Given the description of an element on the screen output the (x, y) to click on. 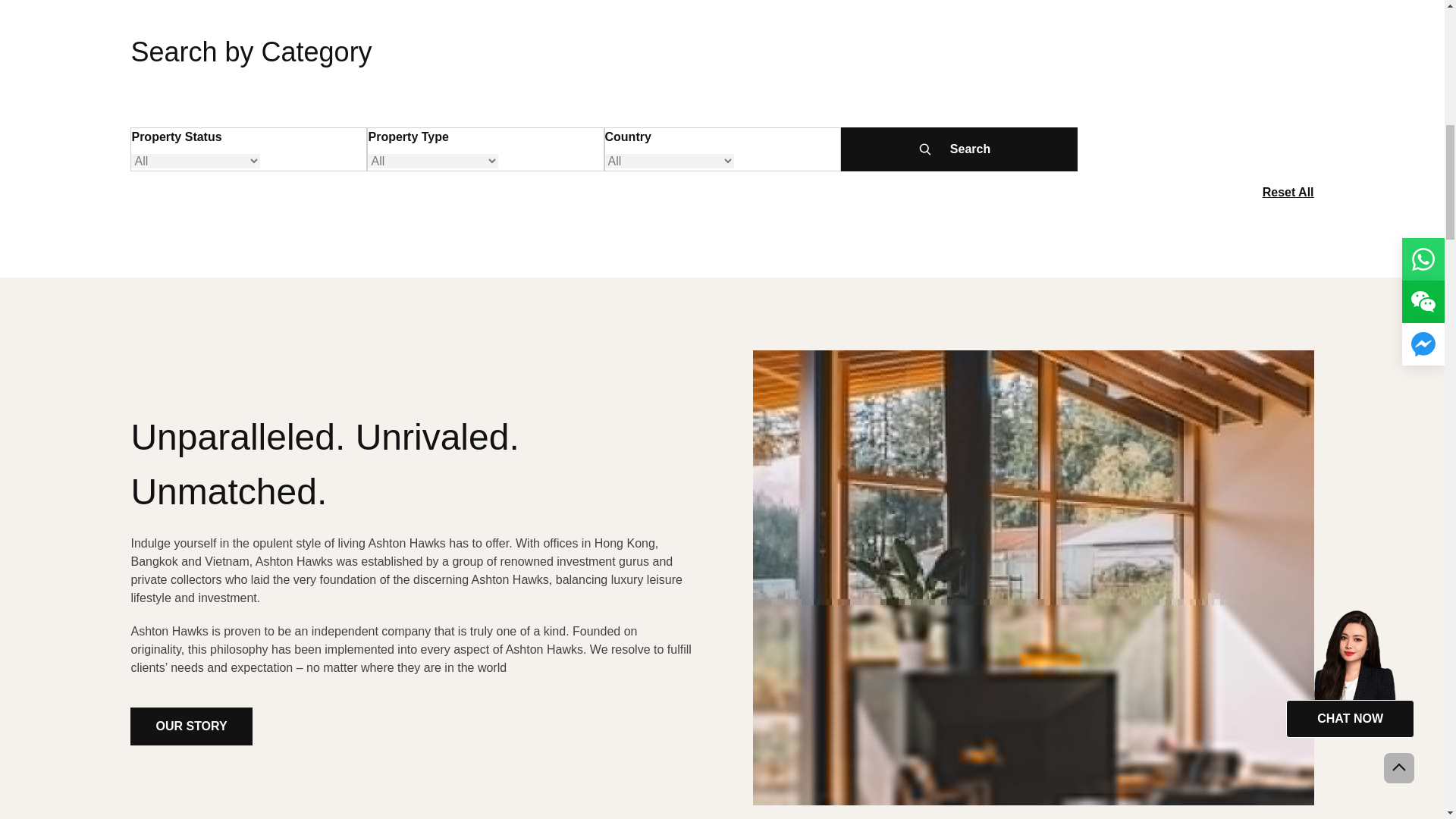
Search (959, 149)
Reset All (1288, 192)
Search (959, 149)
OUR STORY (191, 726)
